Given the description of an element on the screen output the (x, y) to click on. 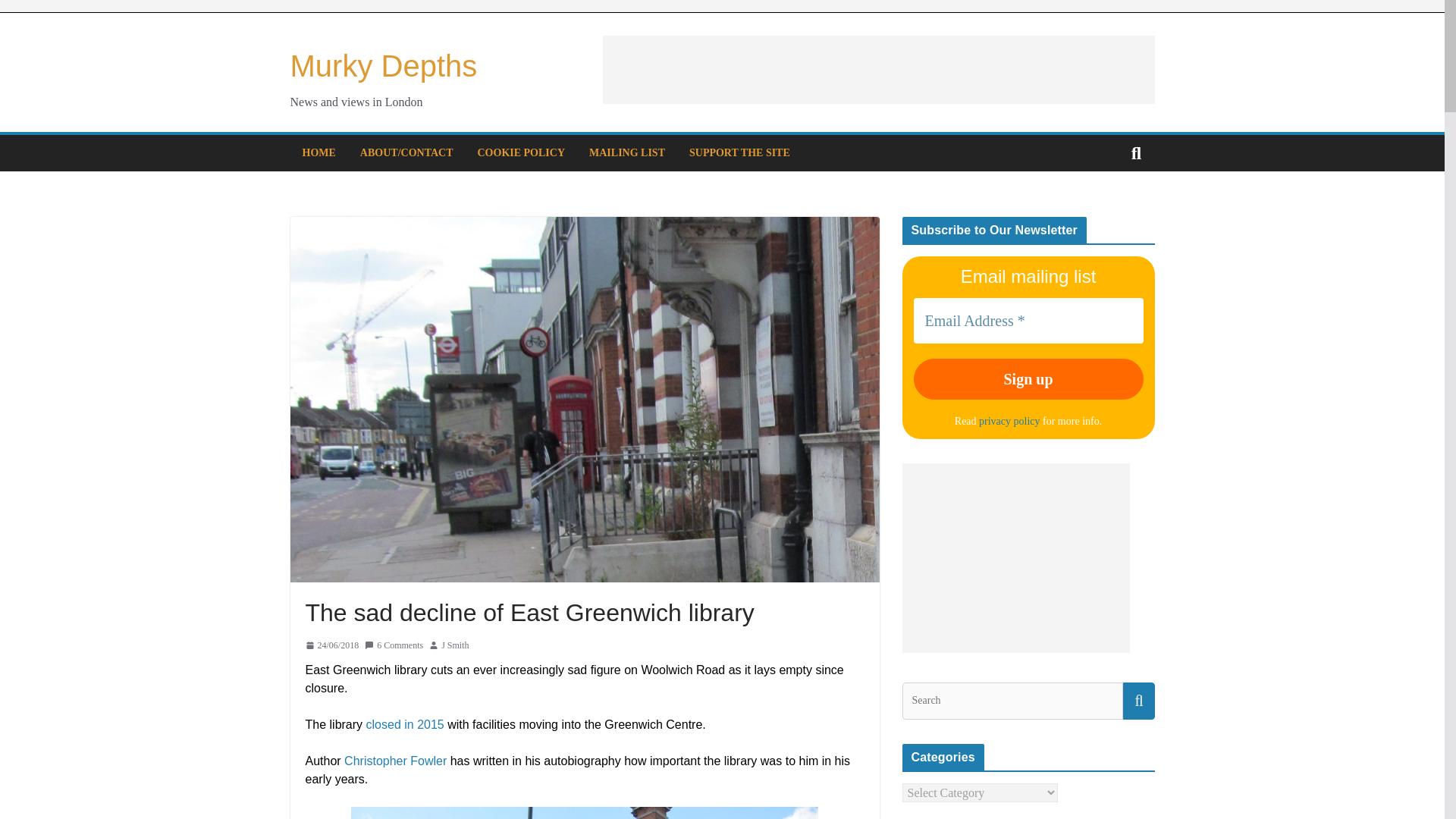
J Smith (454, 644)
SUPPORT THE SITE (739, 152)
Christopher Fowler (394, 760)
HOME (317, 152)
6 Comments (394, 644)
J Smith (454, 644)
Advertisement (878, 70)
16:06 (331, 644)
COOKIE POLICY (521, 152)
Sign up (1027, 378)
MAILING LIST (627, 152)
closed in 2015 (405, 724)
Murky Depths (383, 65)
Murky Depths (383, 65)
